Given the description of an element on the screen output the (x, y) to click on. 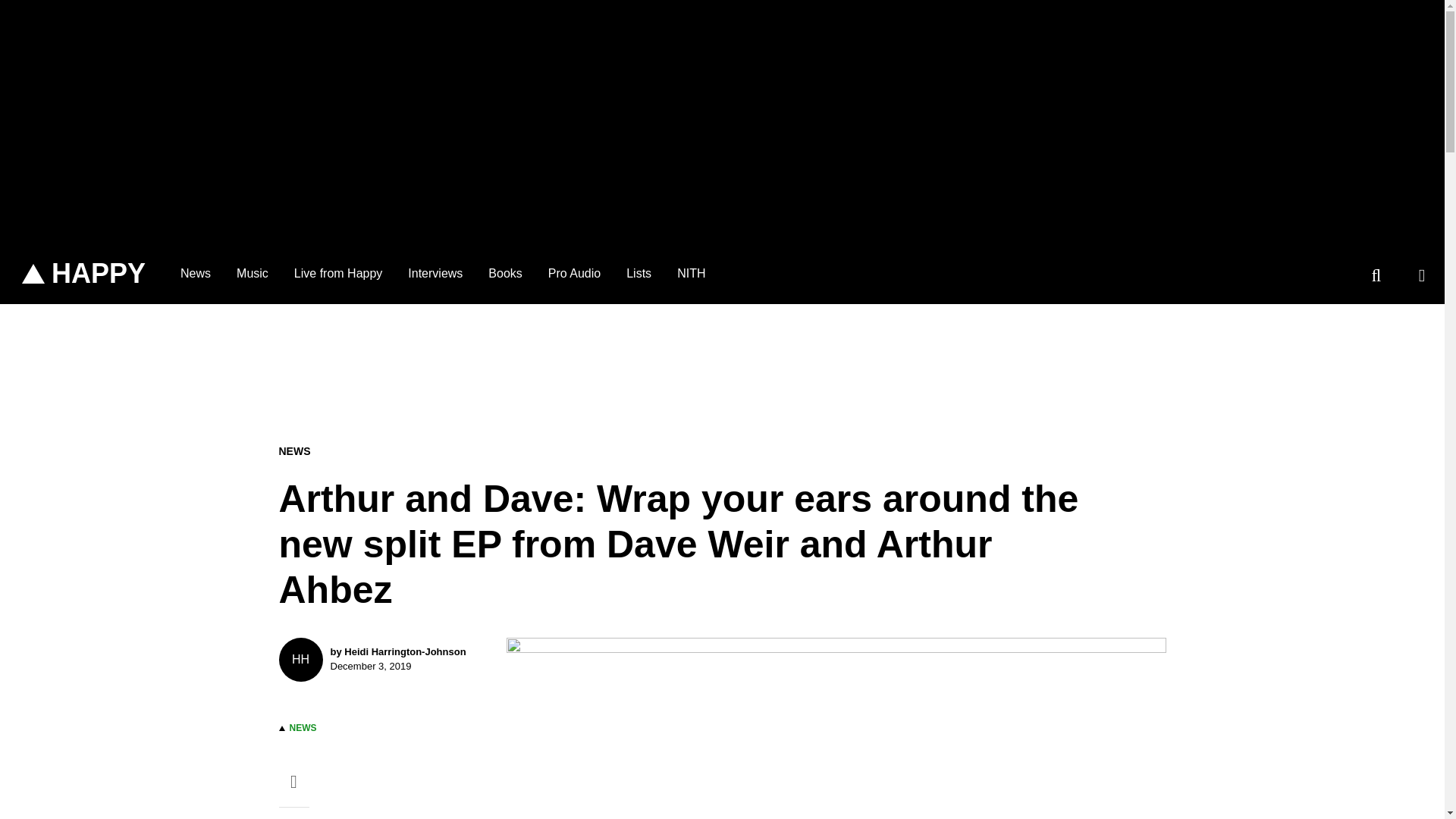
Books (505, 273)
Interviews (435, 273)
Live from Happy (338, 273)
HAPPY (83, 273)
NEWS (303, 727)
Music (252, 273)
Pro Audio (381, 659)
Lists (573, 273)
NITH (637, 273)
News (690, 273)
News (195, 273)
